Given the description of an element on the screen output the (x, y) to click on. 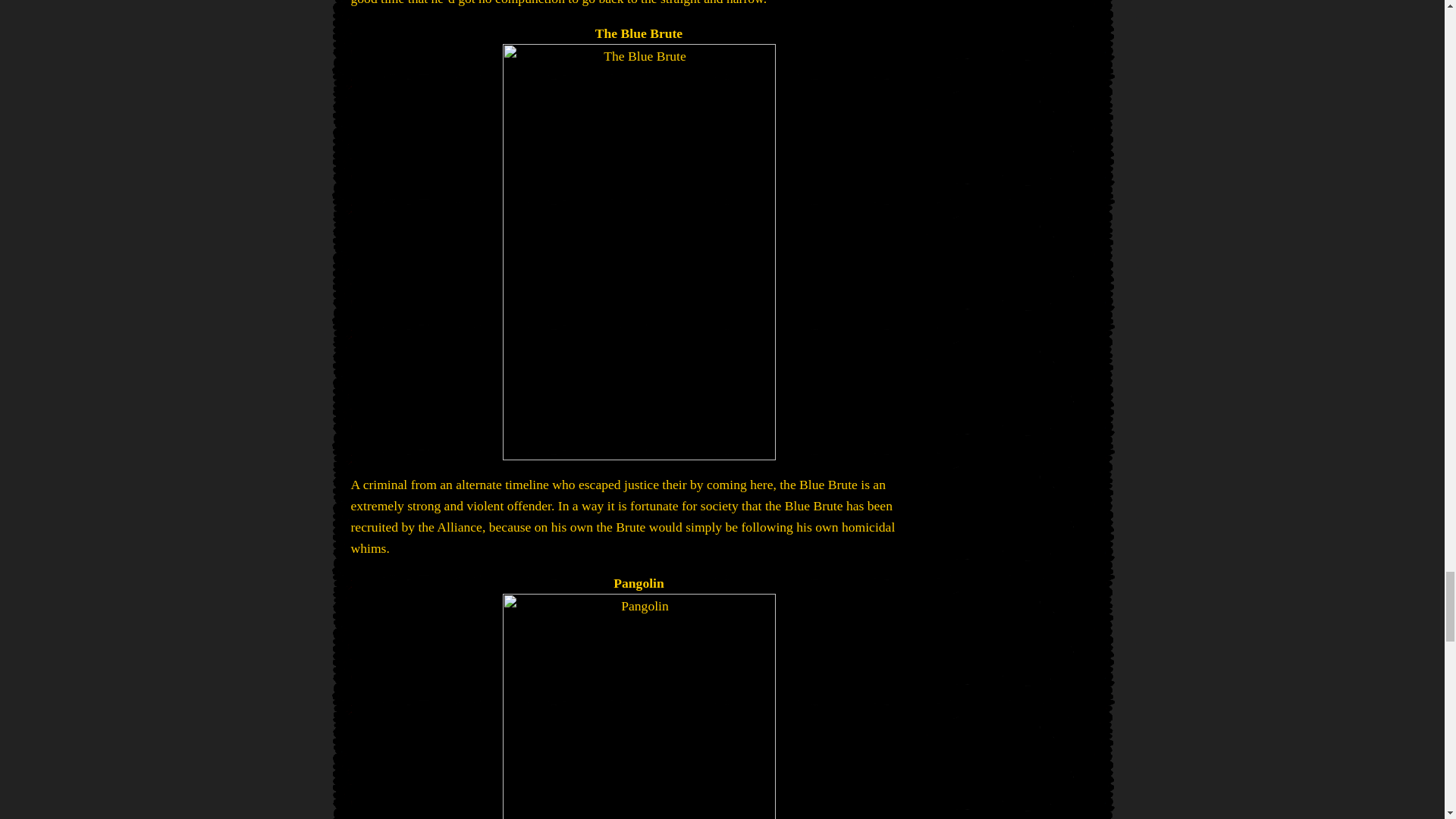
Pangolin (638, 706)
